Given the description of an element on the screen output the (x, y) to click on. 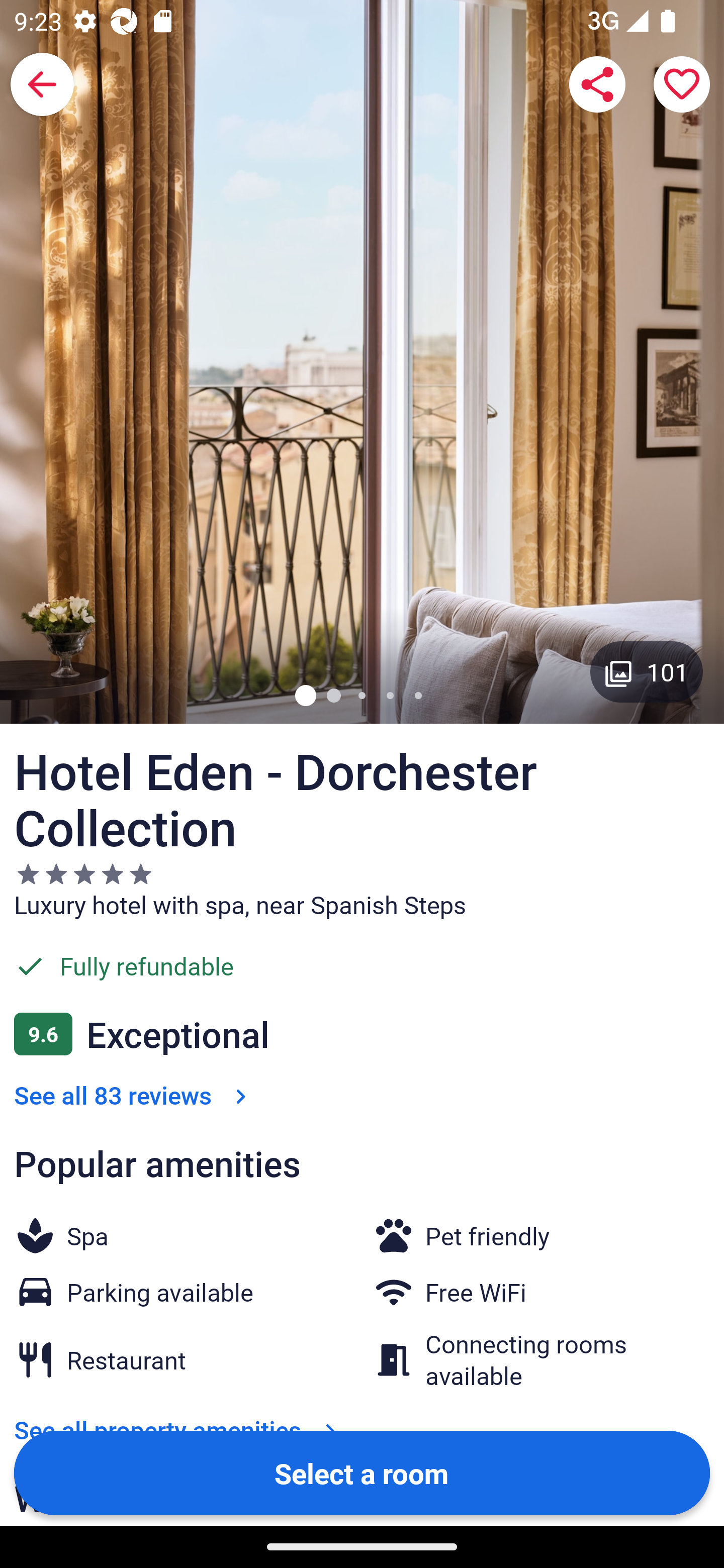
Back (42, 84)
Save property to a trip (681, 84)
Share Hotel Eden - Dorchester Collection (597, 84)
Gallery button with 101 images (646, 671)
See all 83 reviews See all 83 reviews Link (133, 1094)
Select a room Button Select a room (361, 1472)
